Given the description of an element on the screen output the (x, y) to click on. 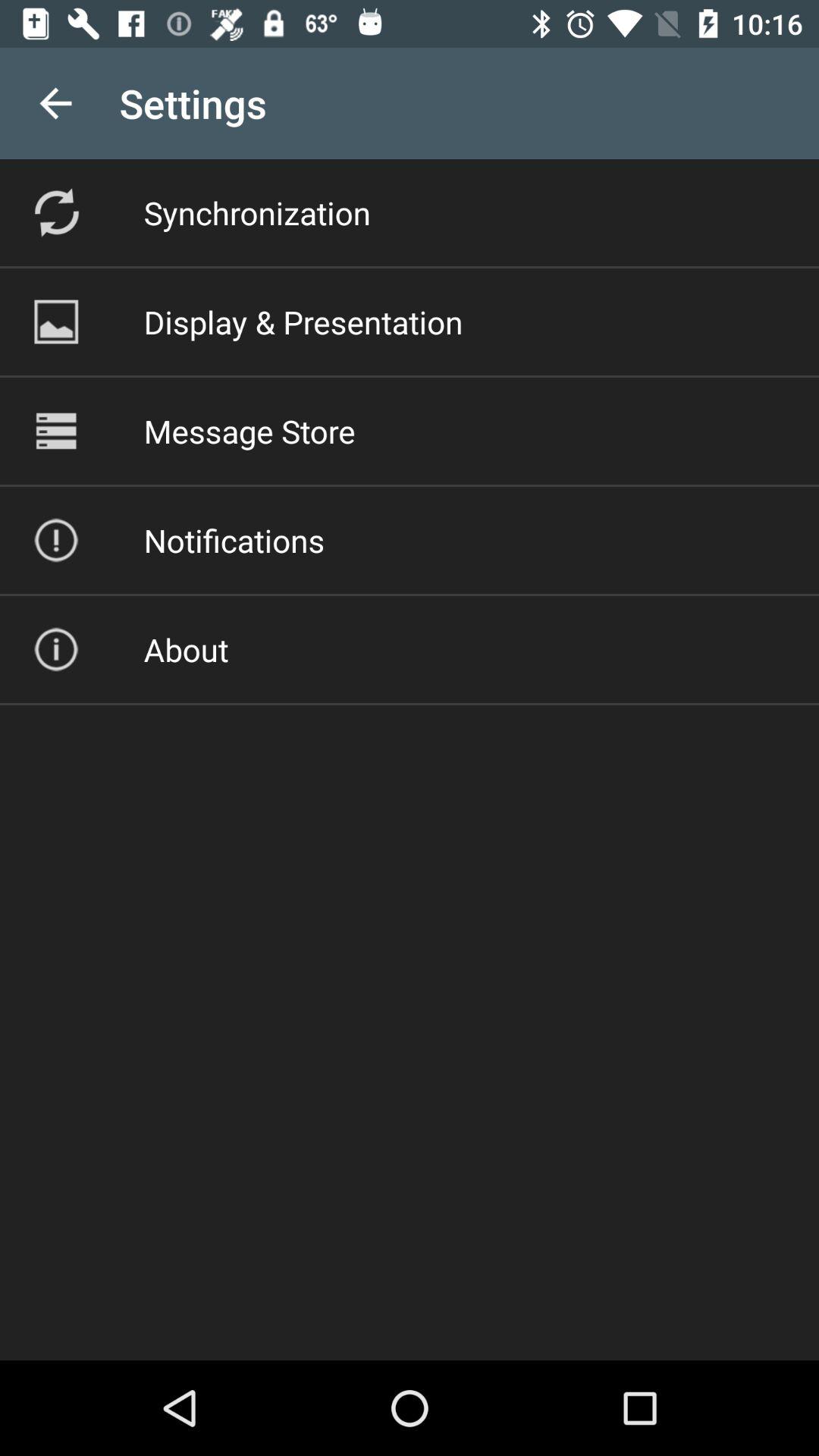
press item above message store icon (302, 321)
